Given the description of an element on the screen output the (x, y) to click on. 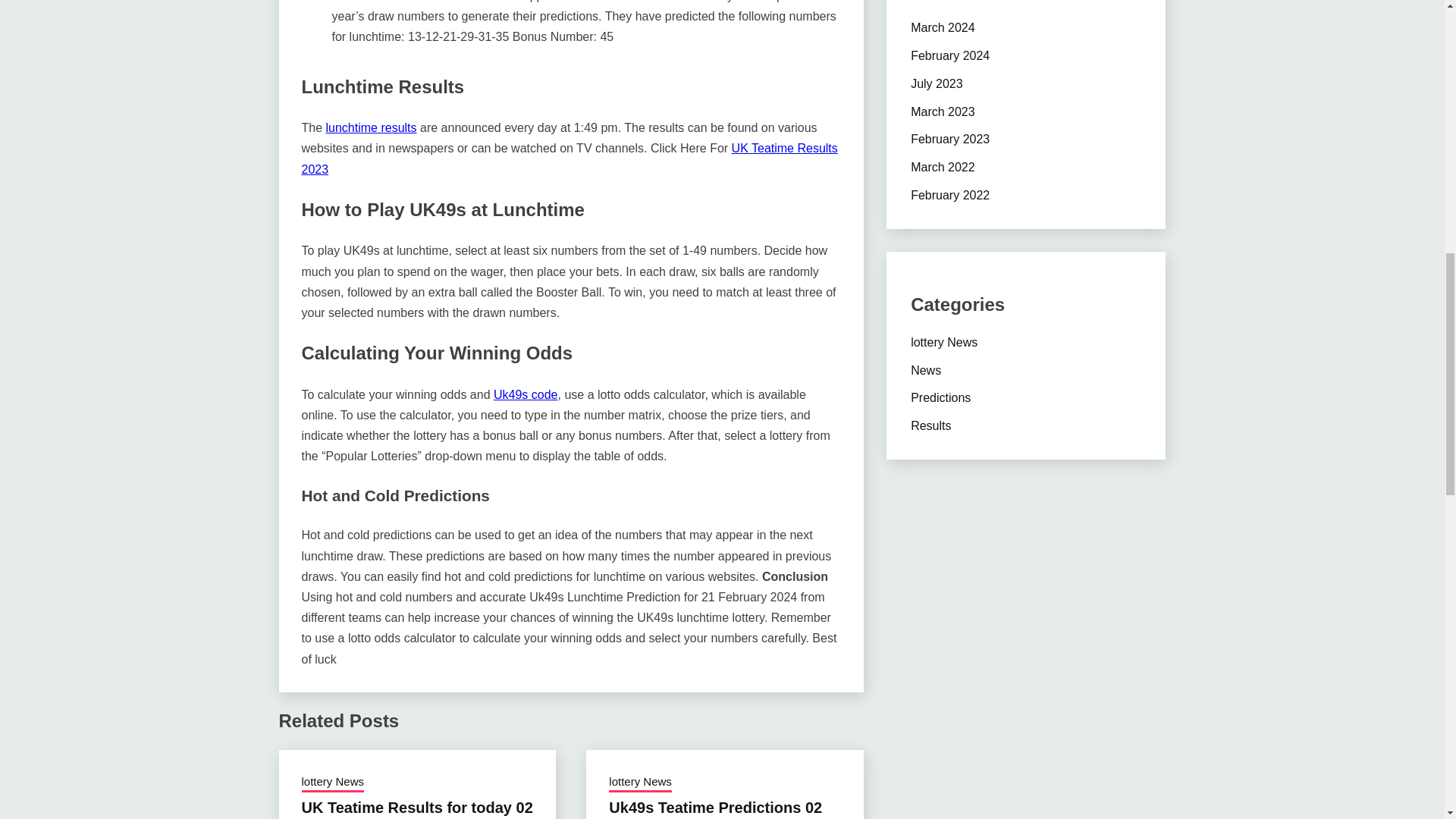
Uk49s code (525, 394)
lunchtime results (371, 127)
March 2024 (943, 27)
UK Teatime Results for today 02 March 2024 (416, 809)
lottery News (333, 783)
Uk49s Teatime Predictions 02 March 2024 (715, 809)
UK Teatime Results 2023 (569, 158)
lottery News (639, 783)
